Given the description of an element on the screen output the (x, y) to click on. 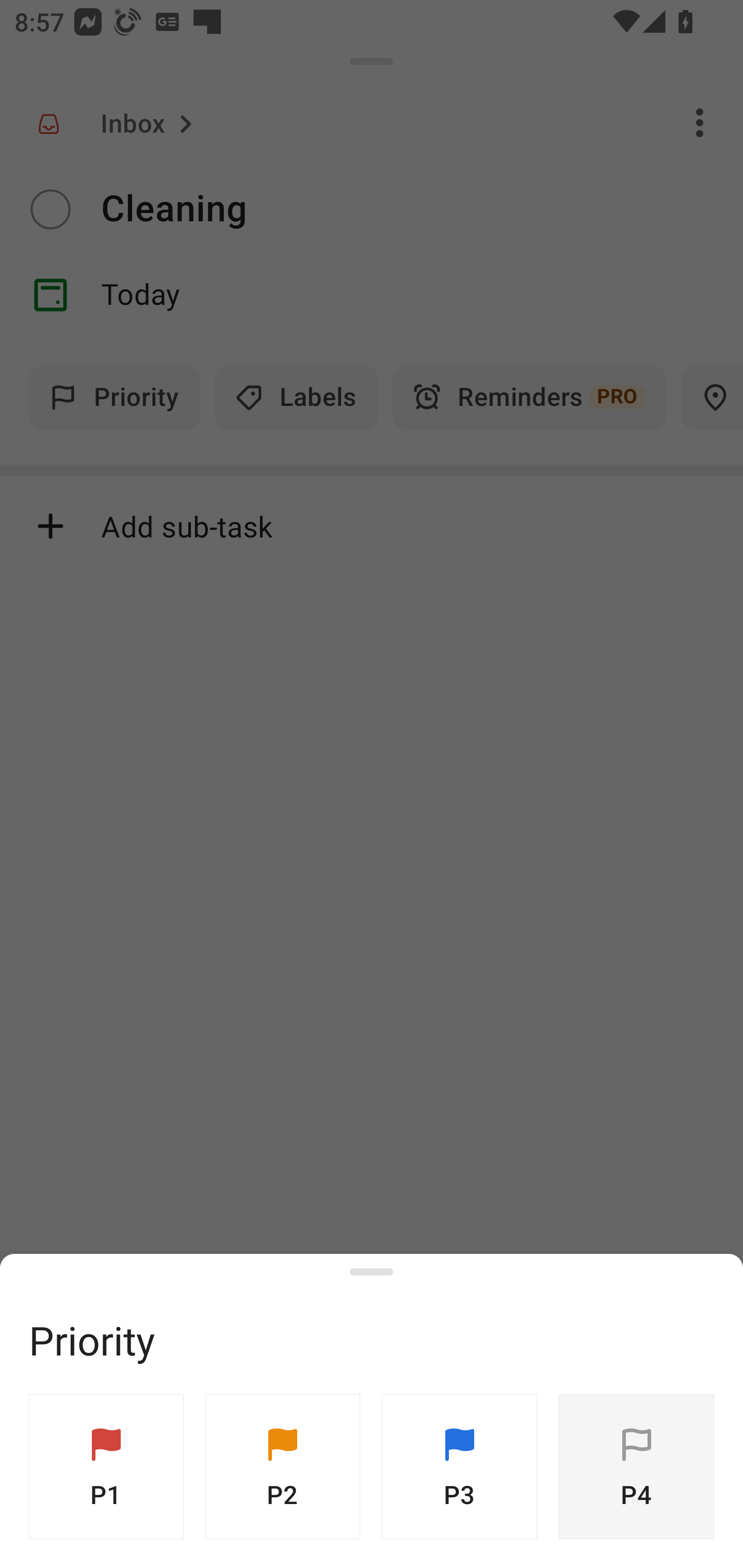
P1 (105, 1466)
P2 (282, 1466)
P3 (459, 1466)
P4 (636, 1466)
